Given the description of an element on the screen output the (x, y) to click on. 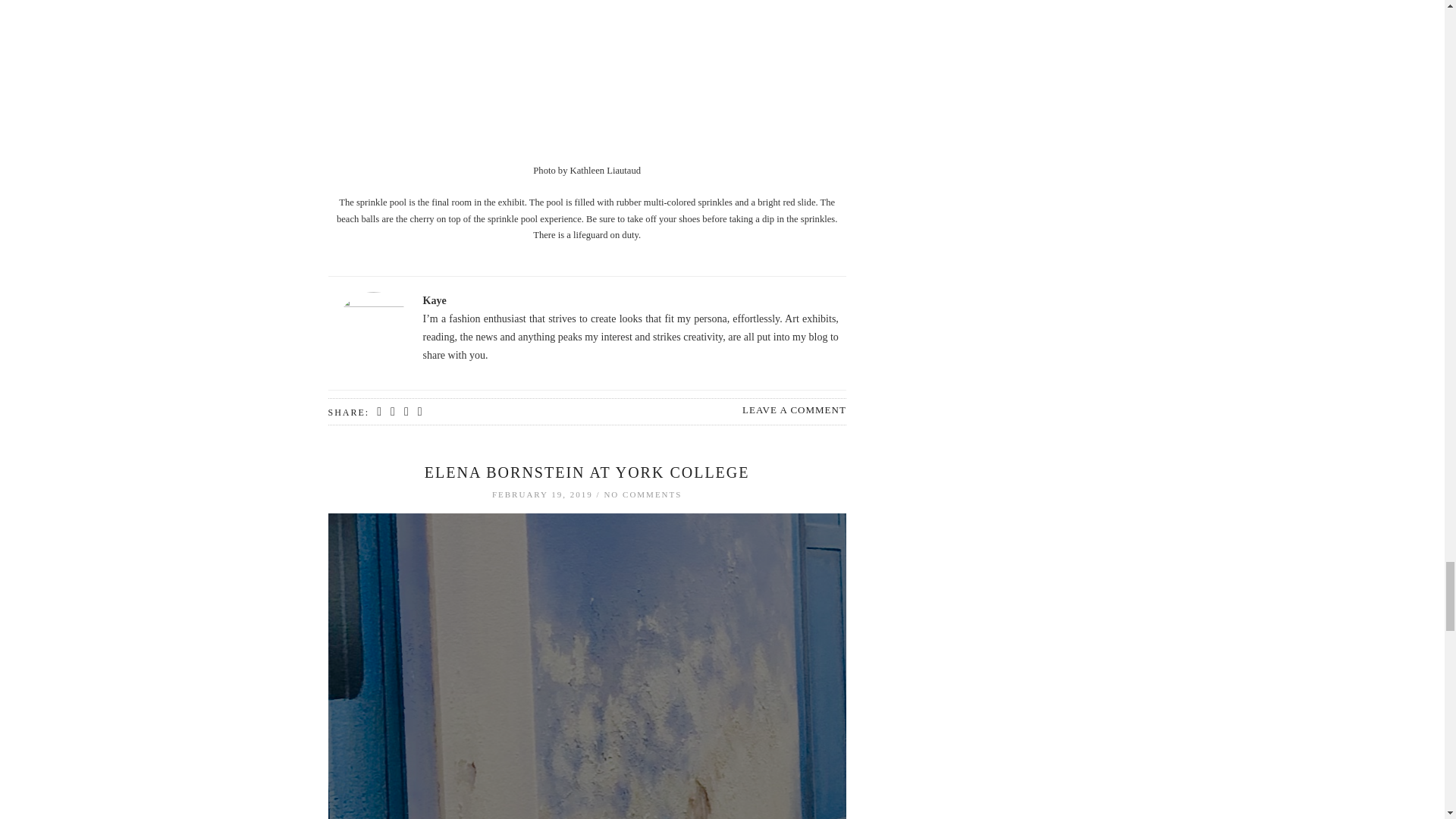
NO COMMENTS (642, 493)
ELENA BORNSTEIN AT YORK COLLEGE (587, 472)
LEAVE A COMMENT (793, 409)
